Given the description of an element on the screen output the (x, y) to click on. 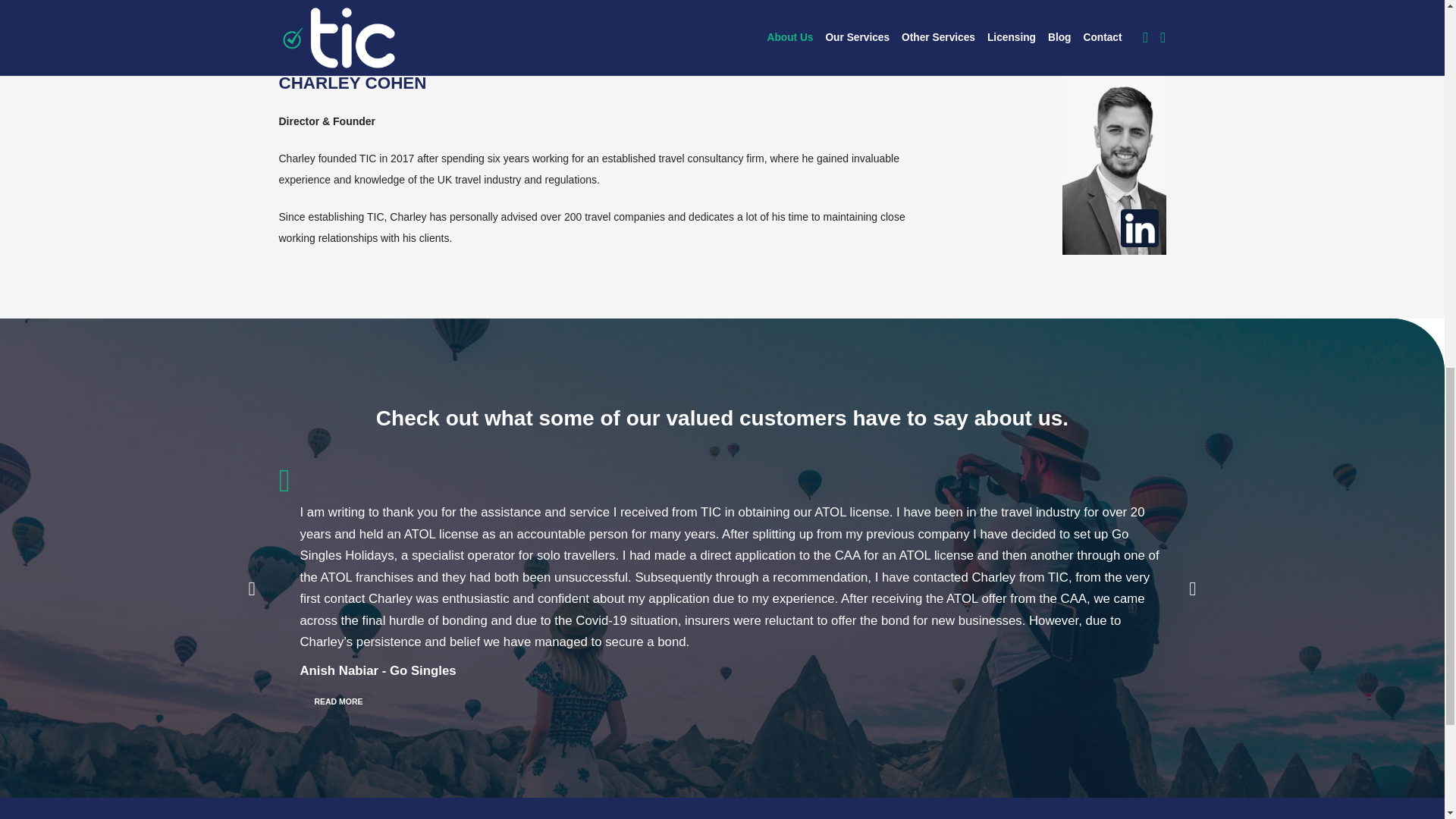
Back to top (1413, 22)
READ MORE (338, 701)
